Given the description of an element on the screen output the (x, y) to click on. 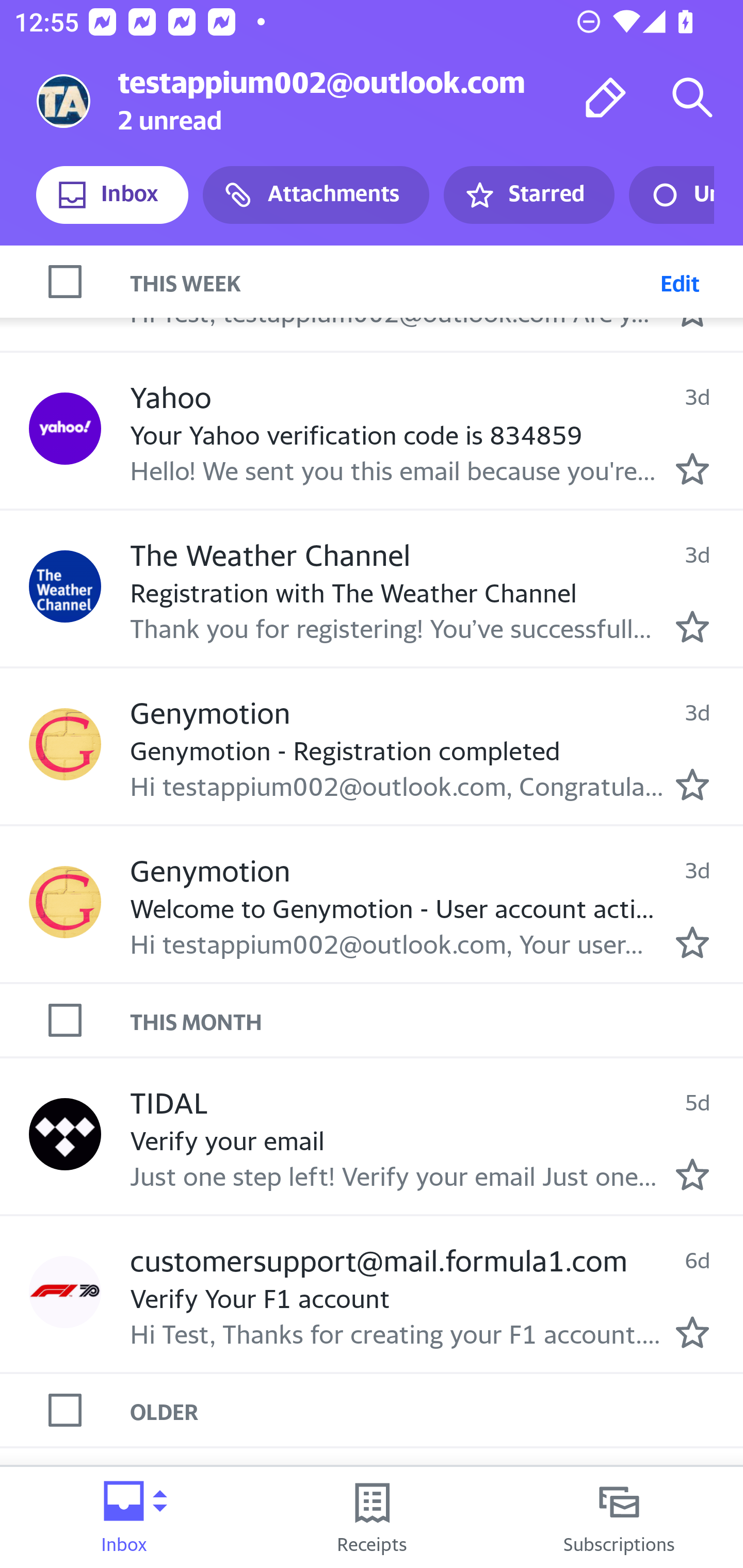
Compose (605, 97)
Search mail (692, 97)
Attachments (315, 195)
Starred (528, 195)
Profile
Yahoo (64, 276)
Profile
Yahoo (64, 428)
Mark as starred. (692, 469)
Profile
The Weather Channel (64, 586)
Mark as starred. (692, 626)
Profile
Genymotion (64, 744)
Mark as starred. (692, 784)
Profile
Genymotion (64, 901)
Mark as starred. (692, 941)
THIS MONTH (436, 1019)
Profile
TIDAL (64, 1133)
Mark as starred. (692, 1175)
Profile
customersupport@mail.formula1.com (64, 1291)
Mark as starred. (692, 1331)
OLDER (436, 1410)
Inbox Folder picker (123, 1517)
Receipts (371, 1517)
Subscriptions (619, 1517)
